Given the description of an element on the screen output the (x, y) to click on. 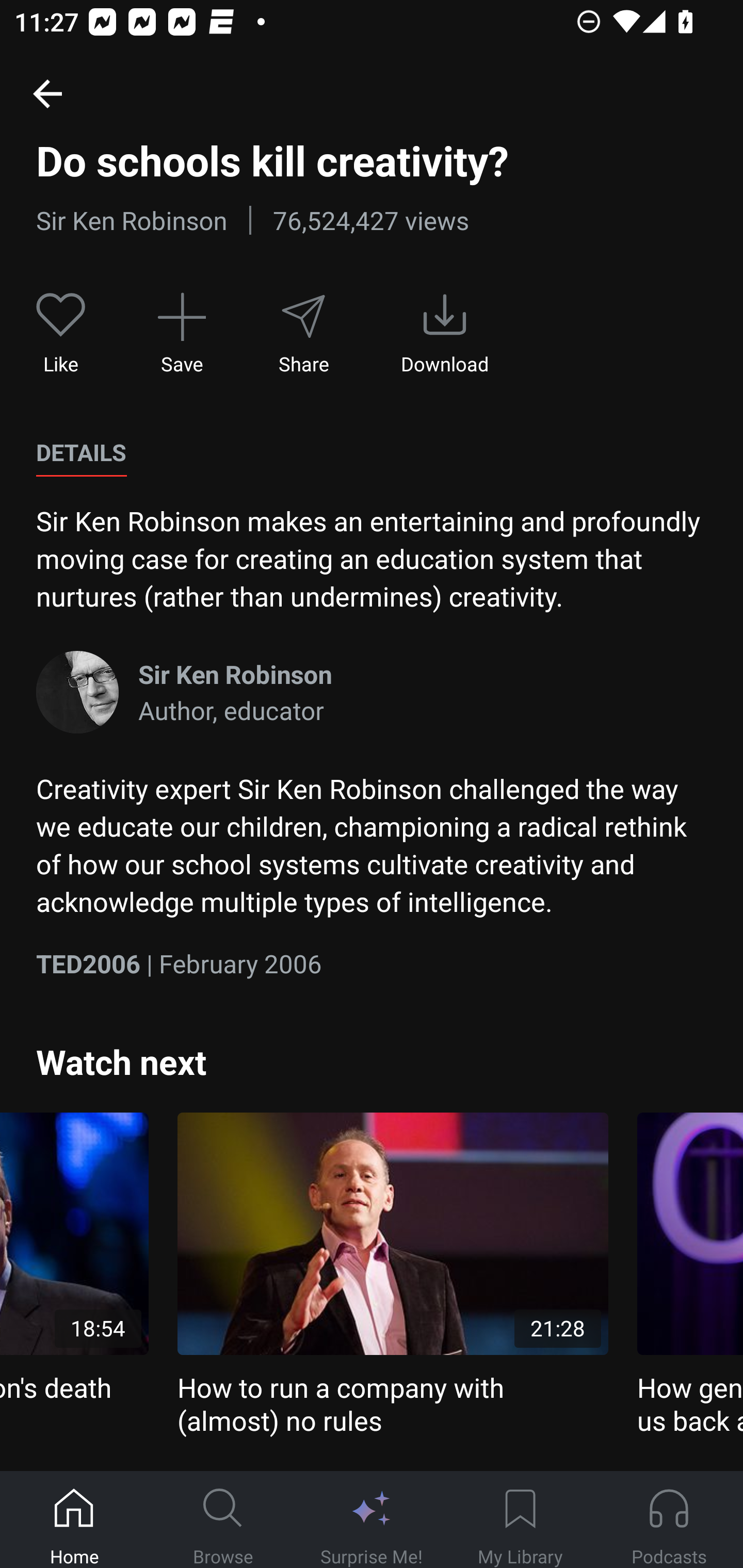
Go back (47, 92)
Like (60, 333)
Save (181, 333)
Share (302, 333)
Download (444, 333)
DETAILS (80, 452)
21:28 How to run a company with (almost) no rules (392, 1275)
Home (74, 1520)
Browse (222, 1520)
Surprise Me! (371, 1520)
My Library (519, 1520)
Podcasts (668, 1520)
